Given the description of an element on the screen output the (x, y) to click on. 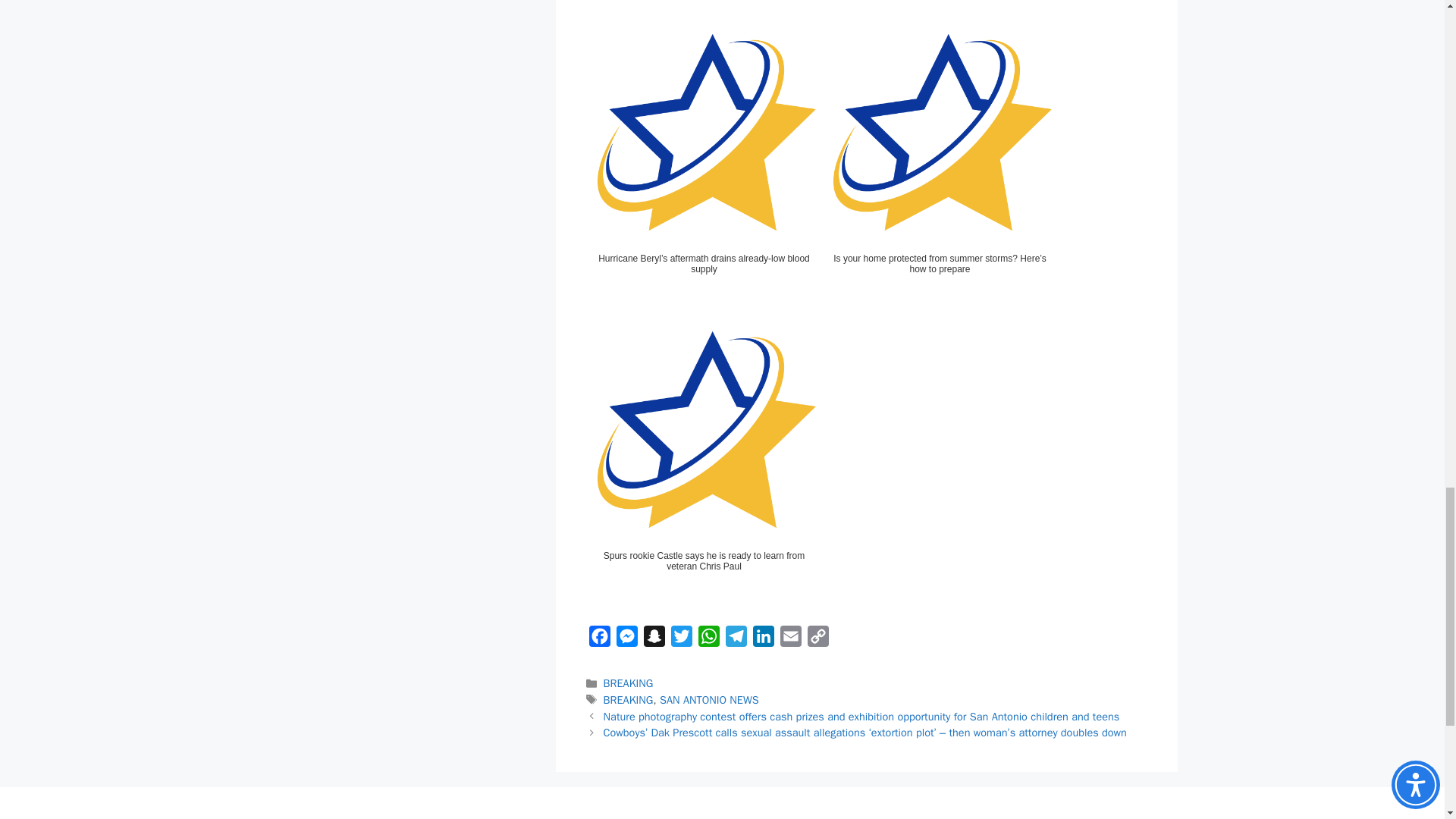
LinkedIn (762, 639)
SAN ANTONIO NEWS (708, 699)
BREAKING (628, 683)
Telegram (735, 639)
Email (789, 639)
Messenger (626, 639)
BREAKING (628, 699)
Snapchat (653, 639)
Facebook (598, 639)
Copy Link (817, 639)
Facebook (598, 639)
WhatsApp (708, 639)
Snapchat (653, 639)
